Given the description of an element on the screen output the (x, y) to click on. 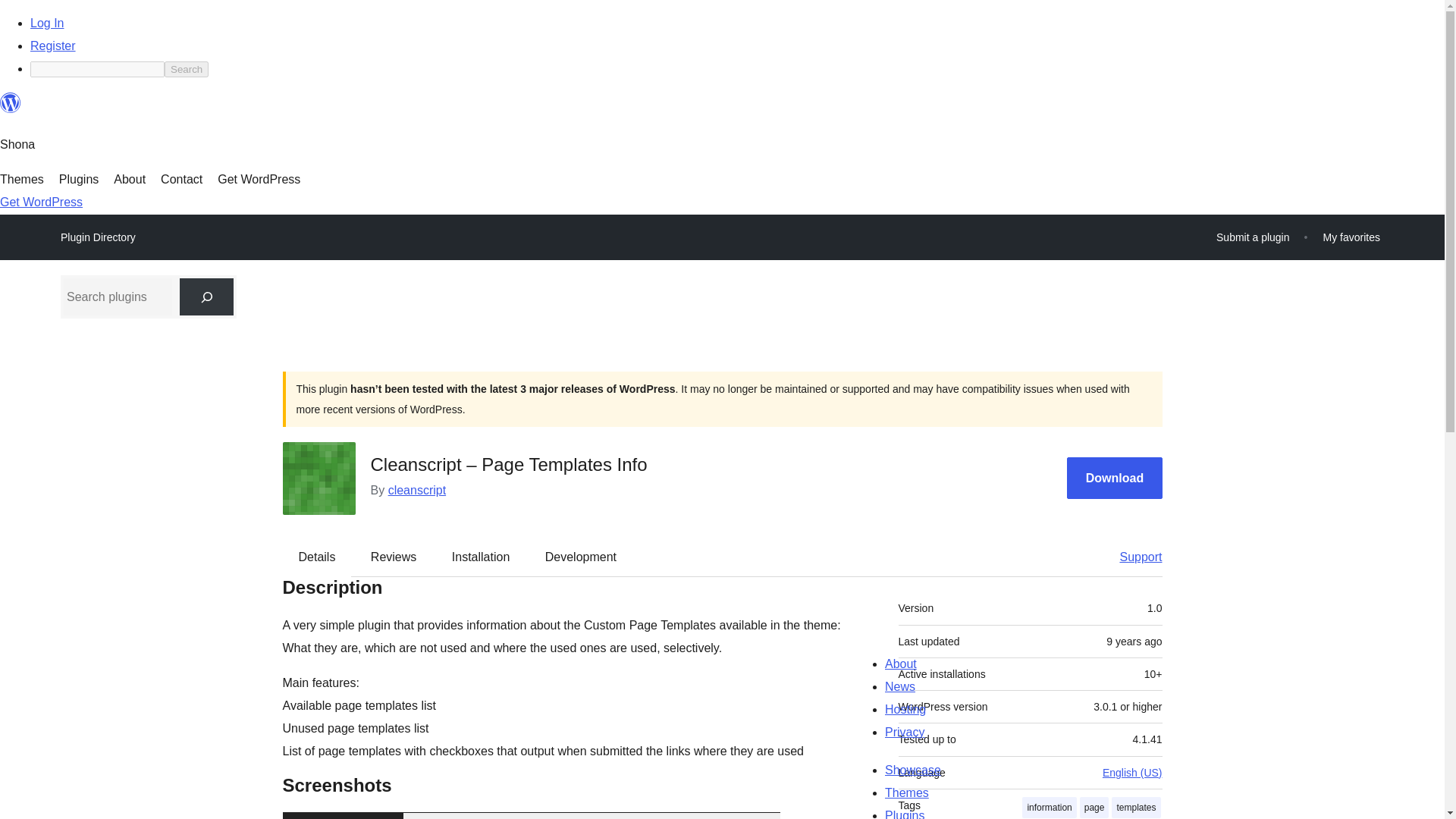
Themes (21, 179)
Register (52, 45)
Download (1114, 477)
Submit a plugin (1253, 236)
Get WordPress (257, 179)
Log In (47, 22)
cleanscript (416, 490)
Installation (480, 557)
Contact (181, 179)
Details (316, 557)
Get WordPress (41, 201)
Plugins (79, 179)
WordPress.org (10, 109)
WordPress.org (10, 102)
Development (580, 557)
